Given the description of an element on the screen output the (x, y) to click on. 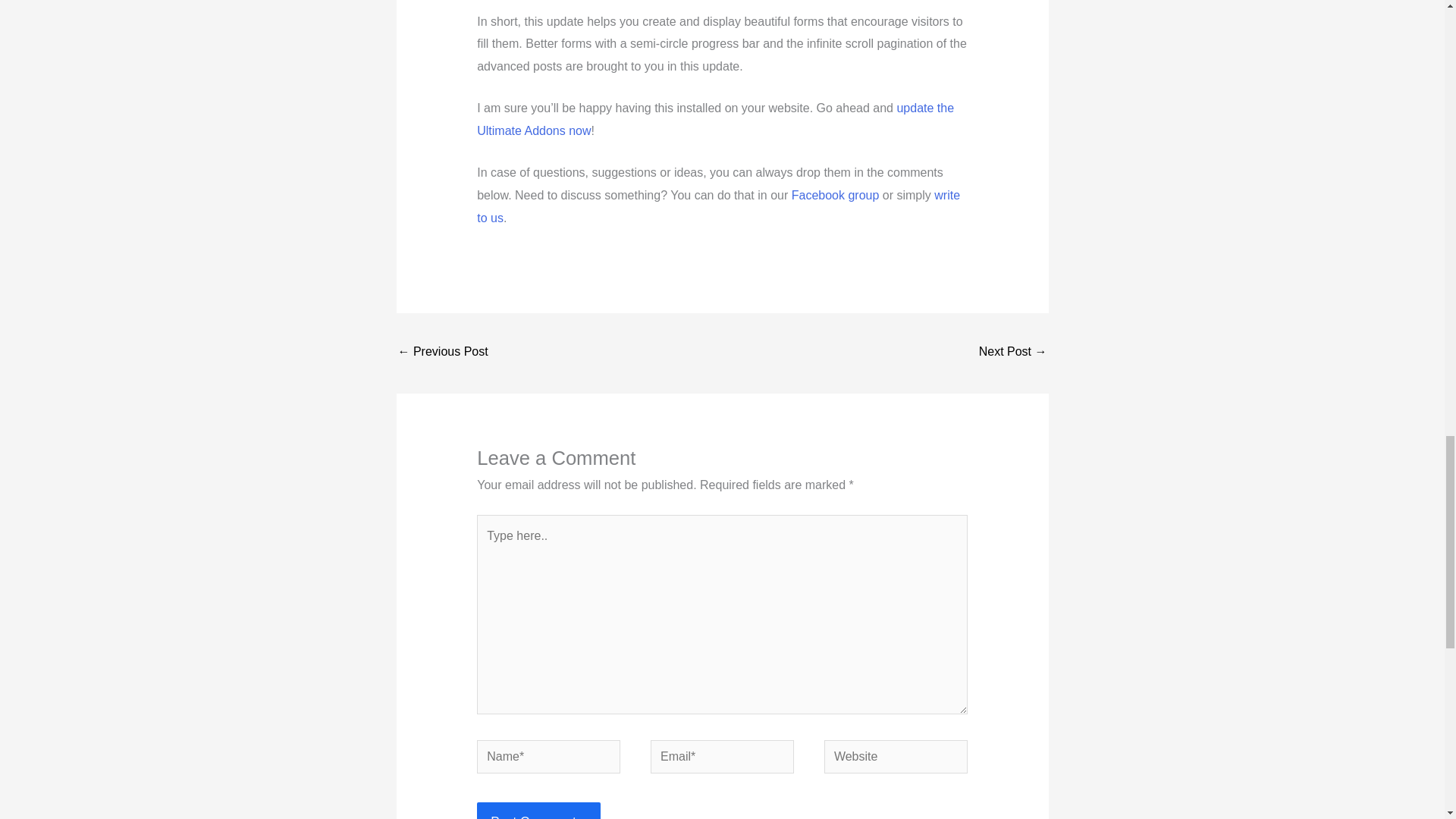
Facebook group (835, 195)
write to us (718, 206)
A Nourishing Page Template for a Dietitian website (442, 352)
update the Ultimate Addons now (715, 119)
